Given the description of an element on the screen output the (x, y) to click on. 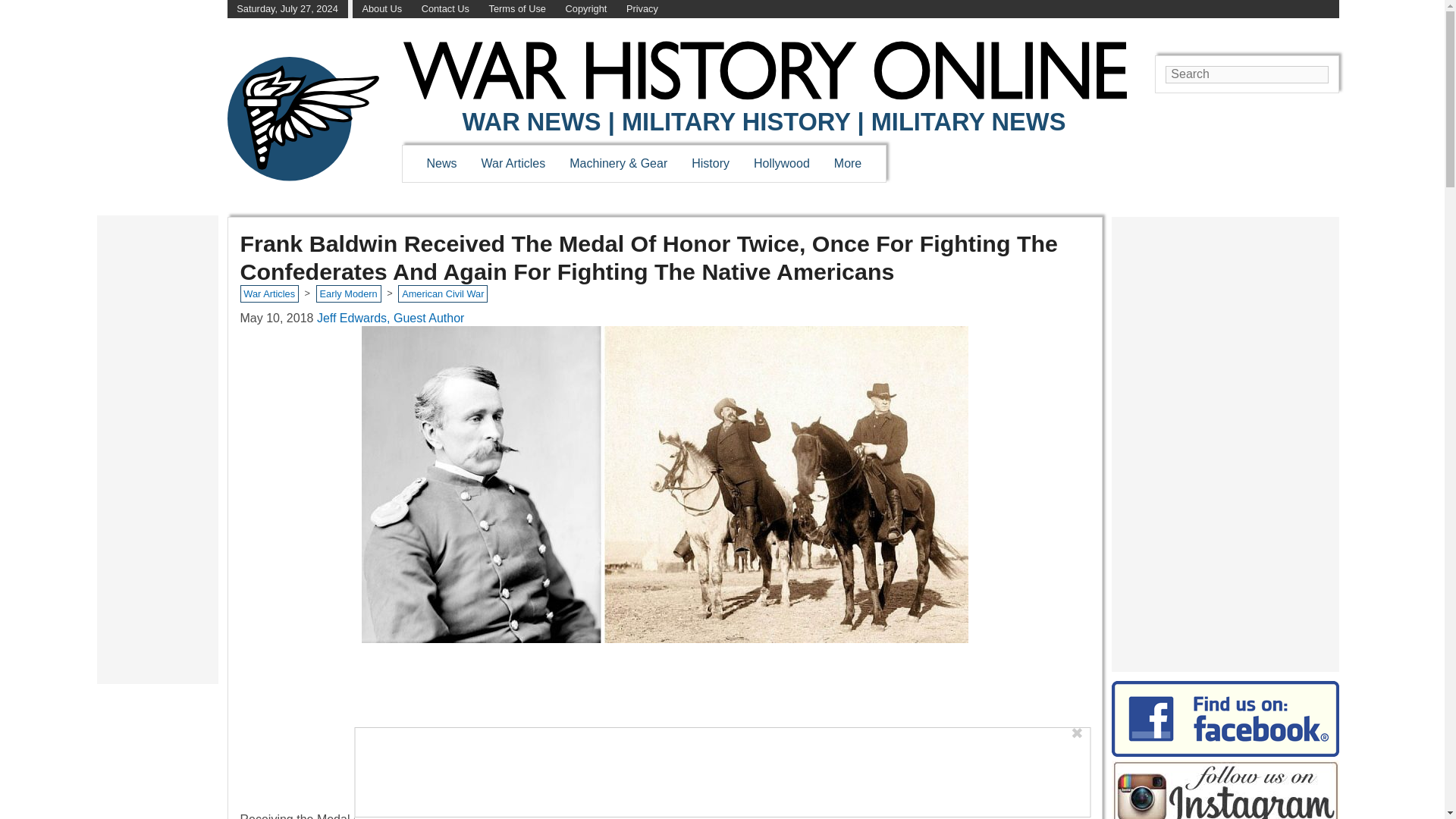
History (710, 163)
Privacy (642, 8)
Terms of Use (517, 8)
Copyright (586, 8)
Contact Us (445, 8)
War Articles (513, 163)
More (847, 163)
News (441, 163)
About Us (381, 8)
Hollywood (781, 163)
